Given the description of an element on the screen output the (x, y) to click on. 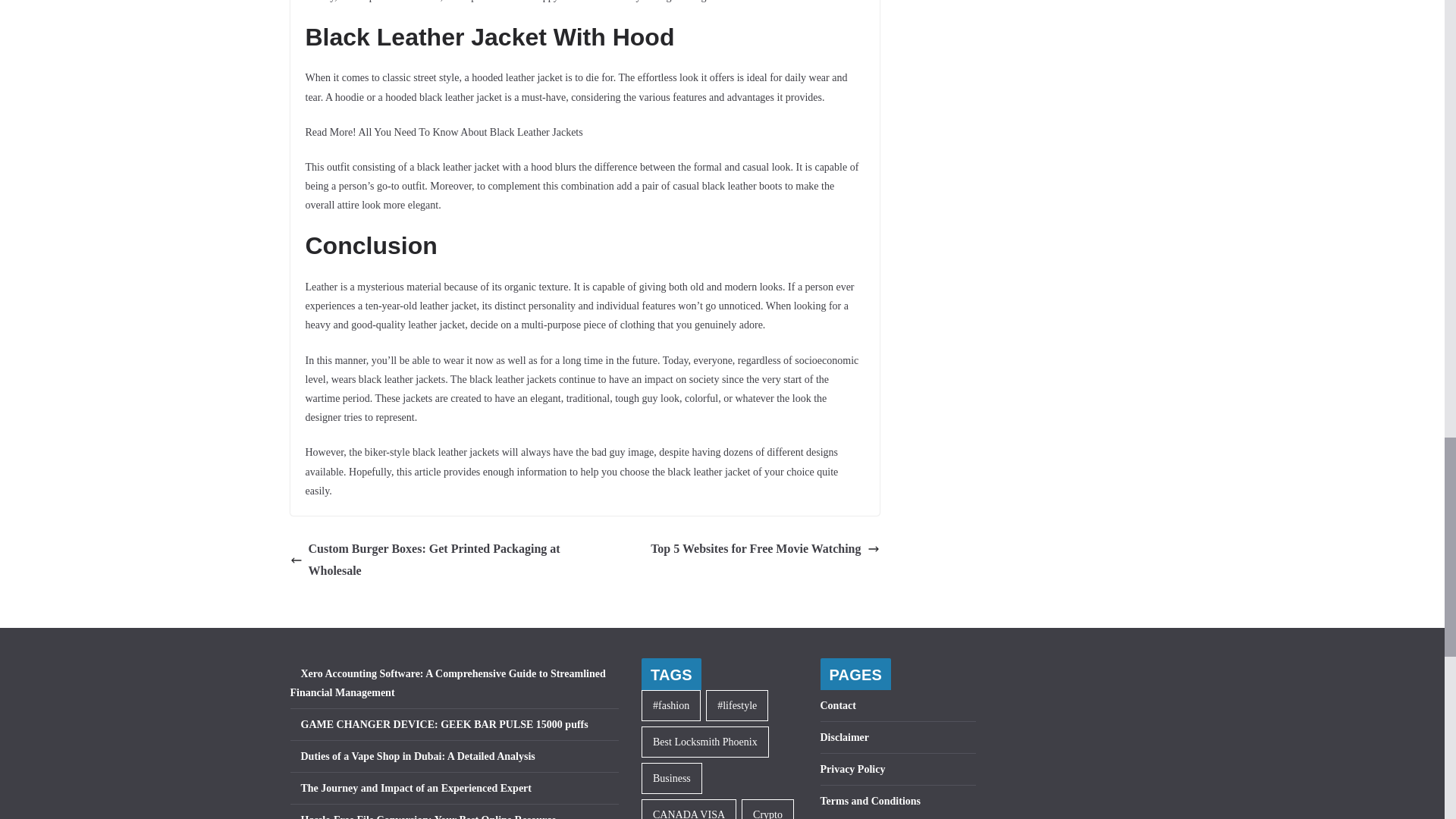
Custom Burger Boxes: Get Printed Packaging at Wholesale (432, 560)
